Given the description of an element on the screen output the (x, y) to click on. 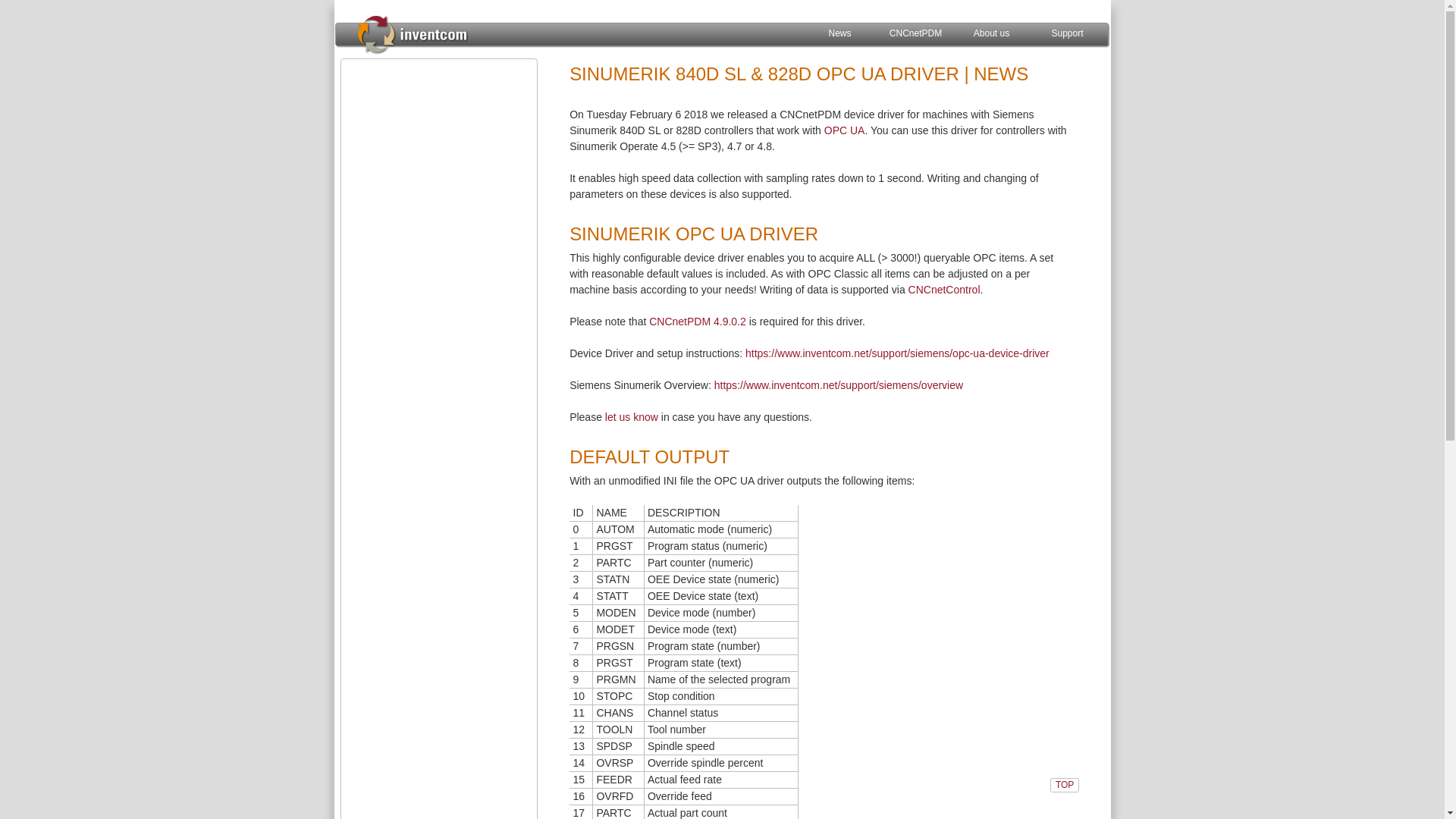
About us (991, 33)
TOP (1063, 784)
Internet of Things  (442, 122)
CNCnetControl (943, 289)
News about us, our products and solutions (839, 33)
CNCnetPDM: Device IT Integration (915, 33)
CNCnetPDM (915, 33)
The Internet of Things for Manufacturing (411, 33)
Goto top of page (1063, 784)
News (839, 33)
let us know (631, 417)
Get help with tools and drivers for your equipment (1067, 33)
Support (1067, 33)
CNCnetPDM 4.9.0.2 (697, 321)
Information about inventcom (991, 33)
